Given the description of an element on the screen output the (x, y) to click on. 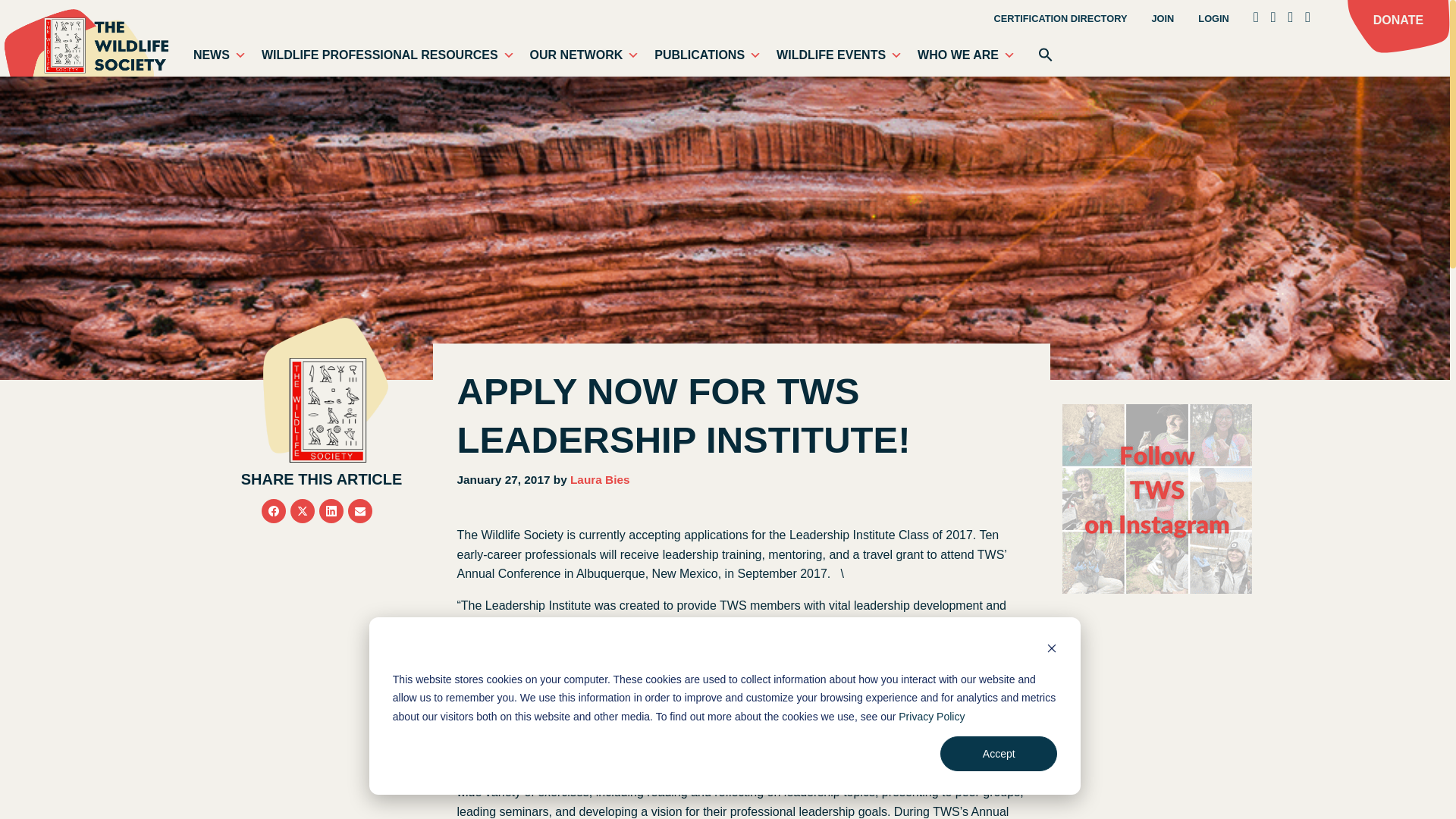
LOGIN (1213, 19)
WILDLIFE PROFESSIONAL RESOURCES (387, 55)
JOIN (1162, 19)
NEWS (219, 55)
CERTIFICATION DIRECTORY (1059, 19)
